Given the description of an element on the screen output the (x, y) to click on. 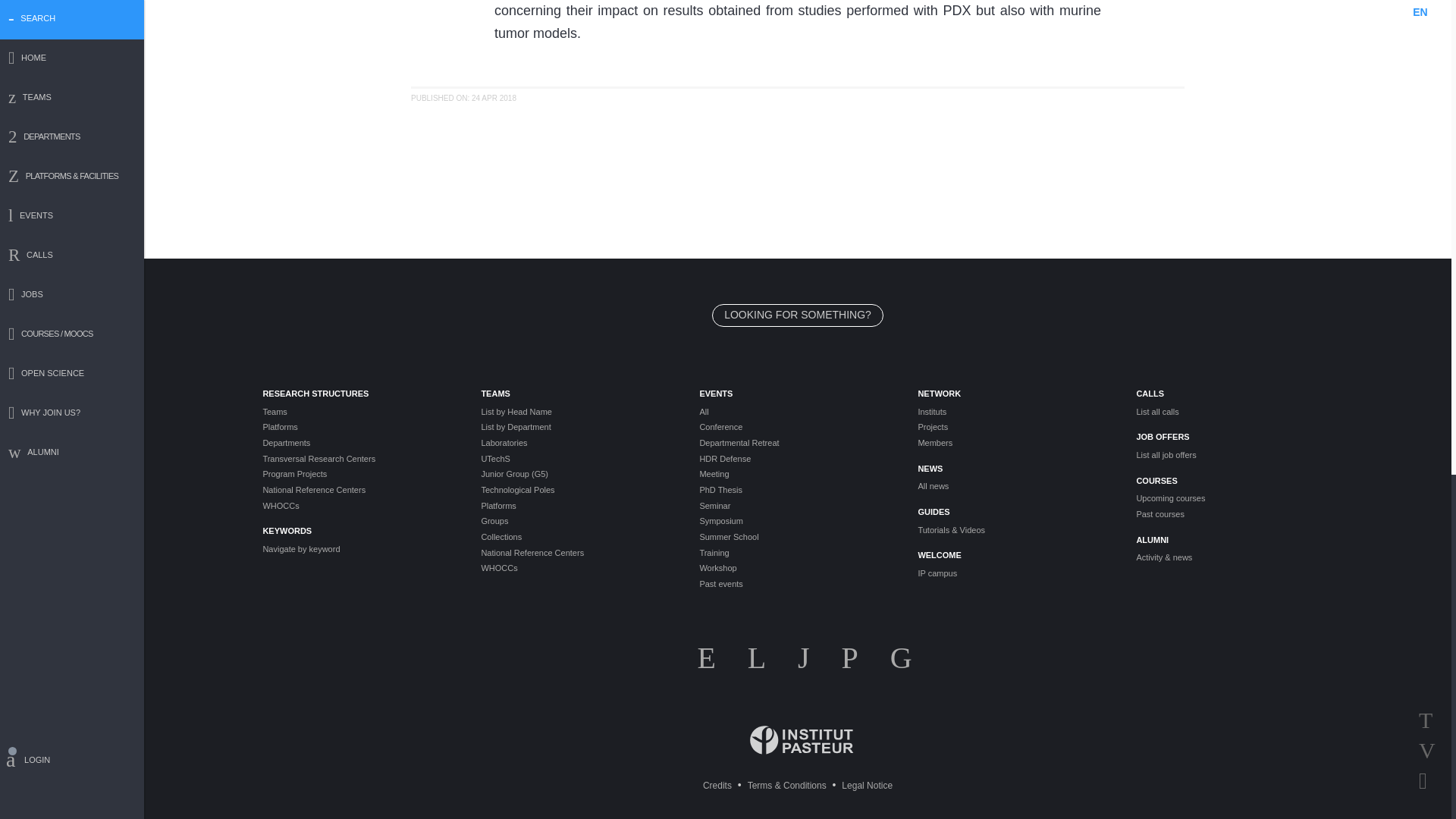
Teams (360, 411)
PUBLISHED ON: 24 APR 2018 (463, 98)
Platforms (360, 427)
Departments (360, 442)
